Given the description of an element on the screen output the (x, y) to click on. 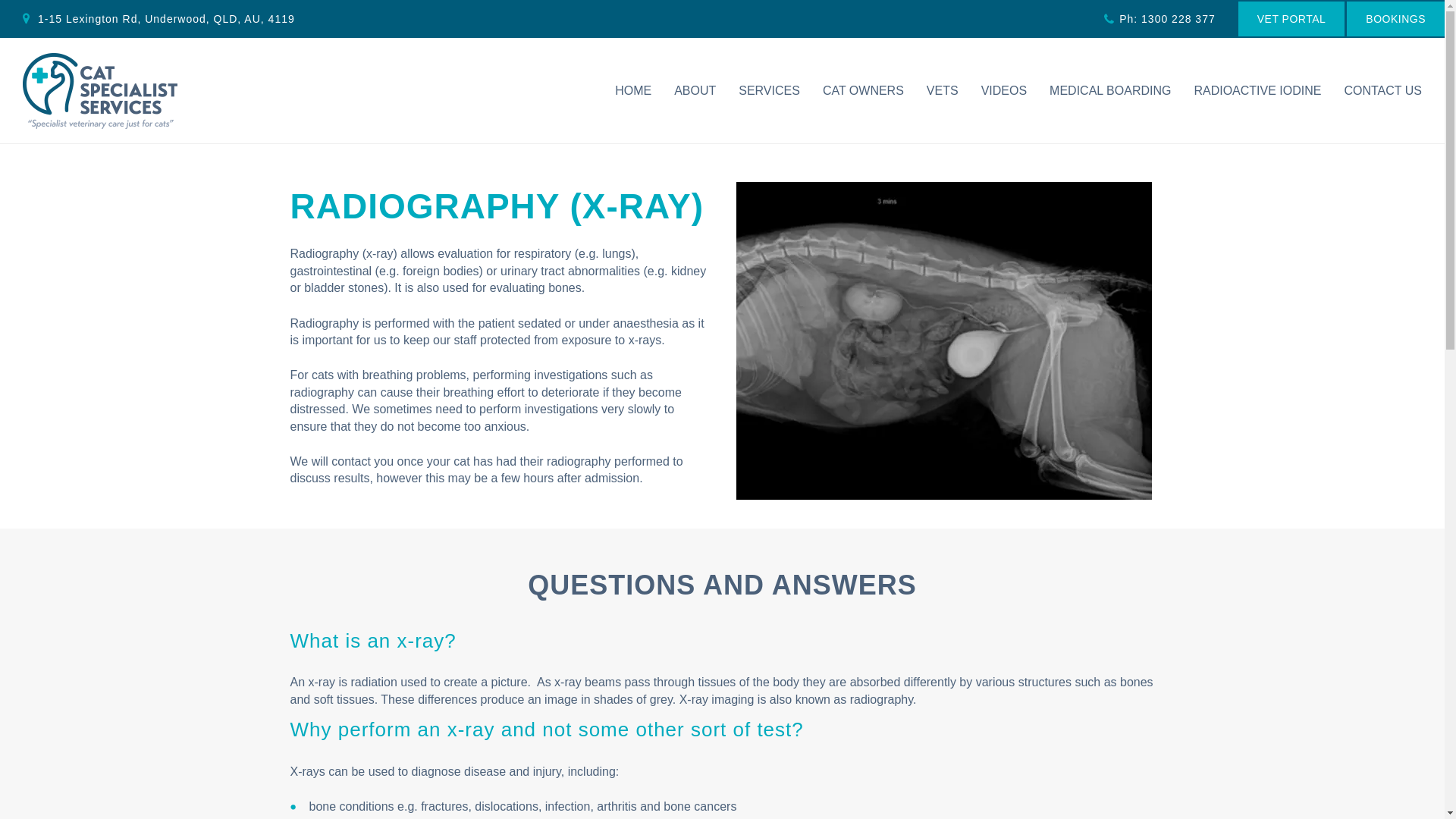
Ph: 1300 228 377 (1159, 19)
SERVICES (768, 90)
VET PORTAL (1292, 18)
HOME (633, 90)
1-15 Lexington Rd, Underwood, QLD, AU, 4119 (159, 19)
ABOUT (694, 90)
Vet Portal (1292, 18)
Visit at (159, 19)
Call Us (1159, 19)
VSS Feeline Division (100, 89)
